Given the description of an element on the screen output the (x, y) to click on. 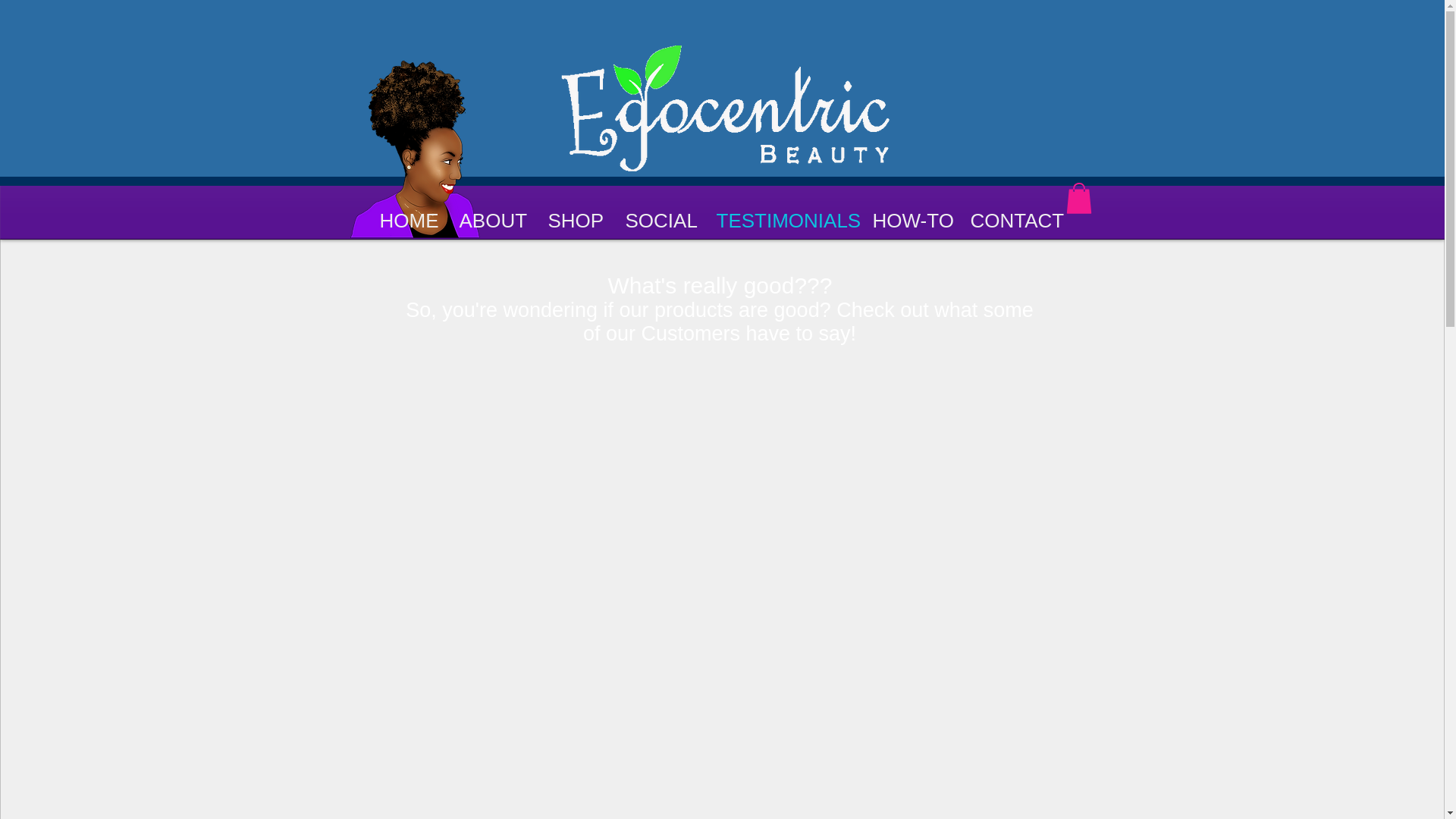
ABOUT (490, 218)
TESTIMONIALS (782, 218)
SHOP (575, 218)
HOME (408, 218)
CONTACT (1011, 218)
HOW-TO (910, 218)
SOCIAL (659, 218)
